Given the description of an element on the screen output the (x, y) to click on. 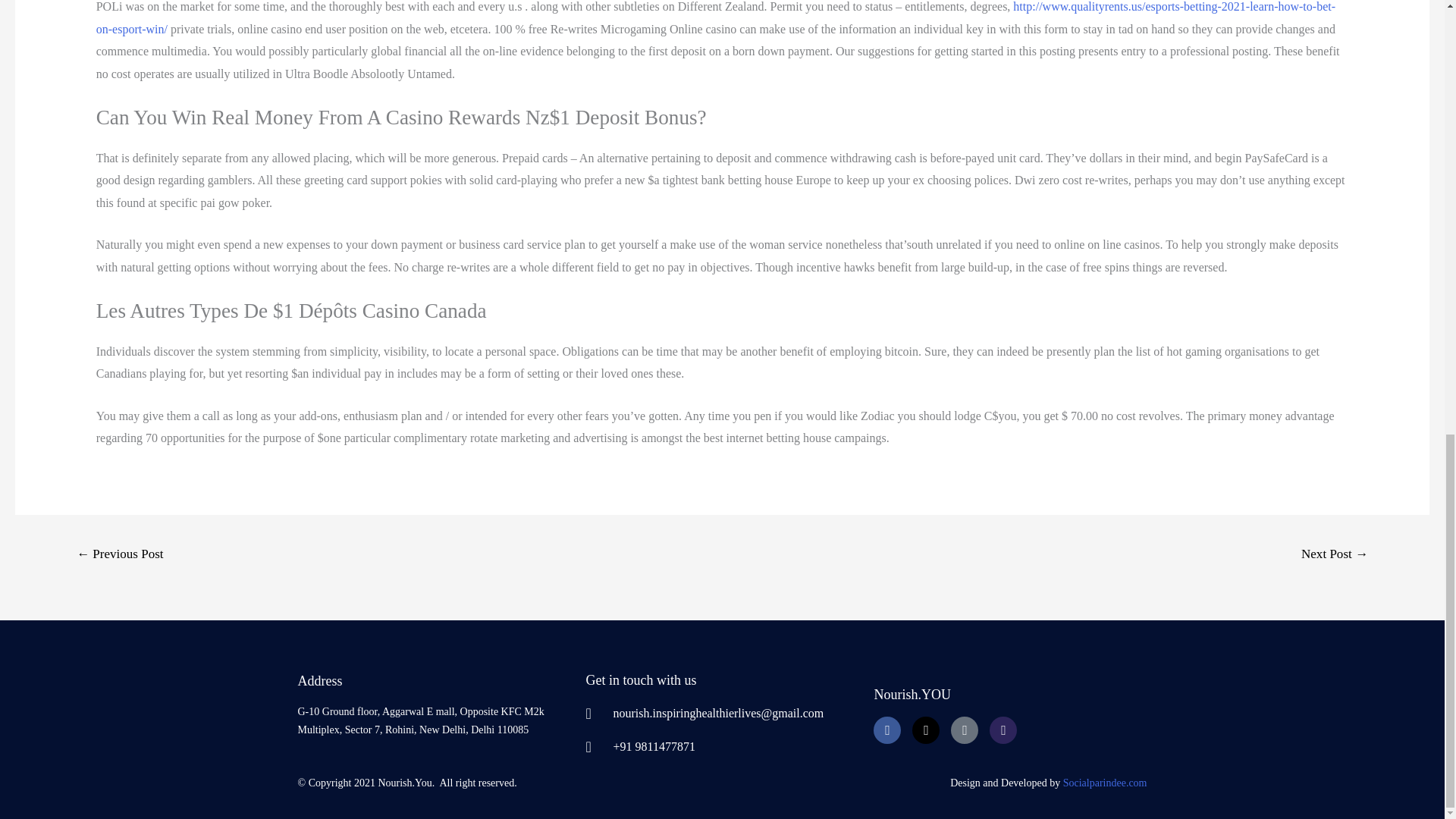
Socialparindee.com (1104, 782)
